Given the description of an element on the screen output the (x, y) to click on. 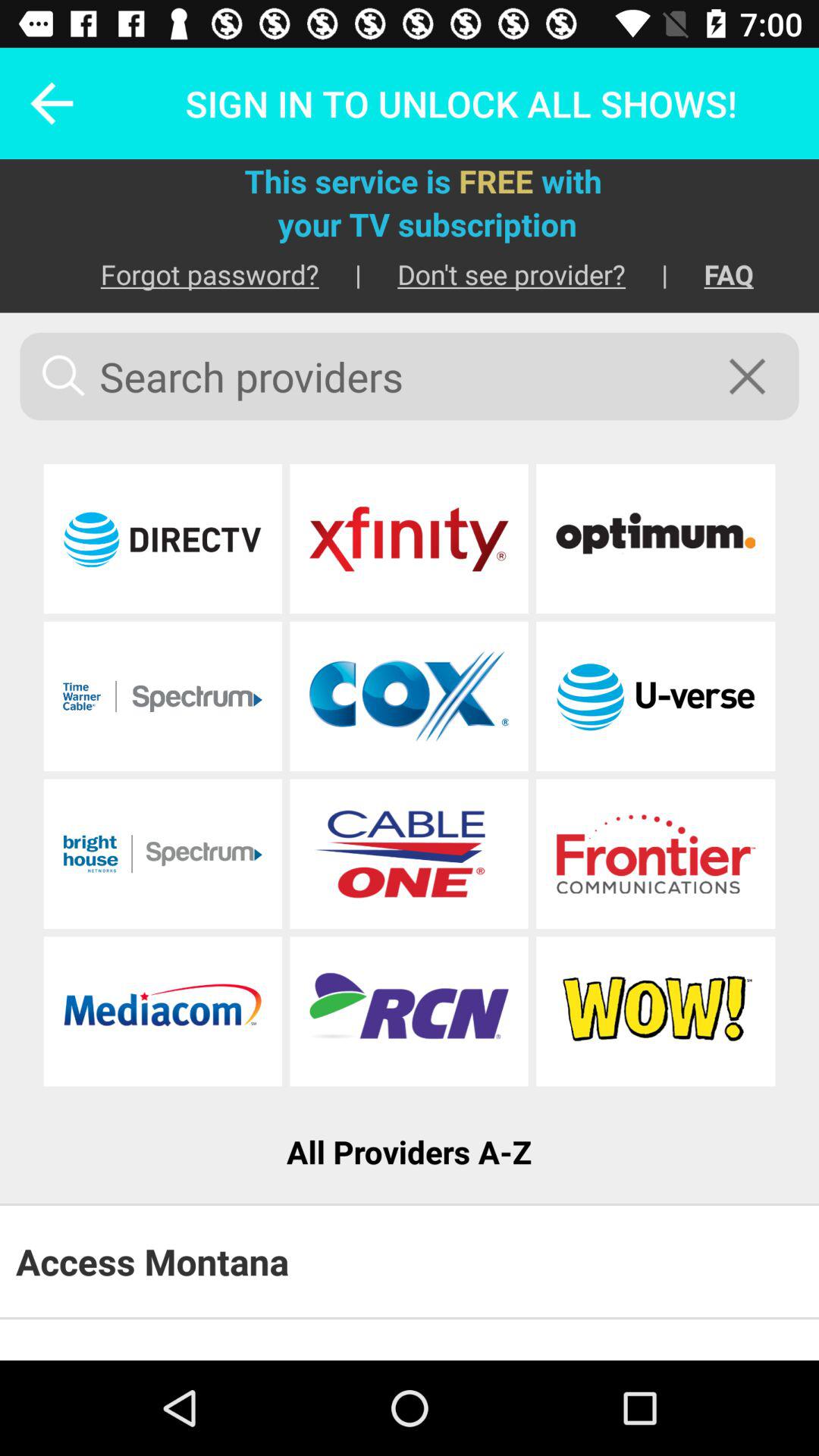
pick a provider (408, 696)
